Given the description of an element on the screen output the (x, y) to click on. 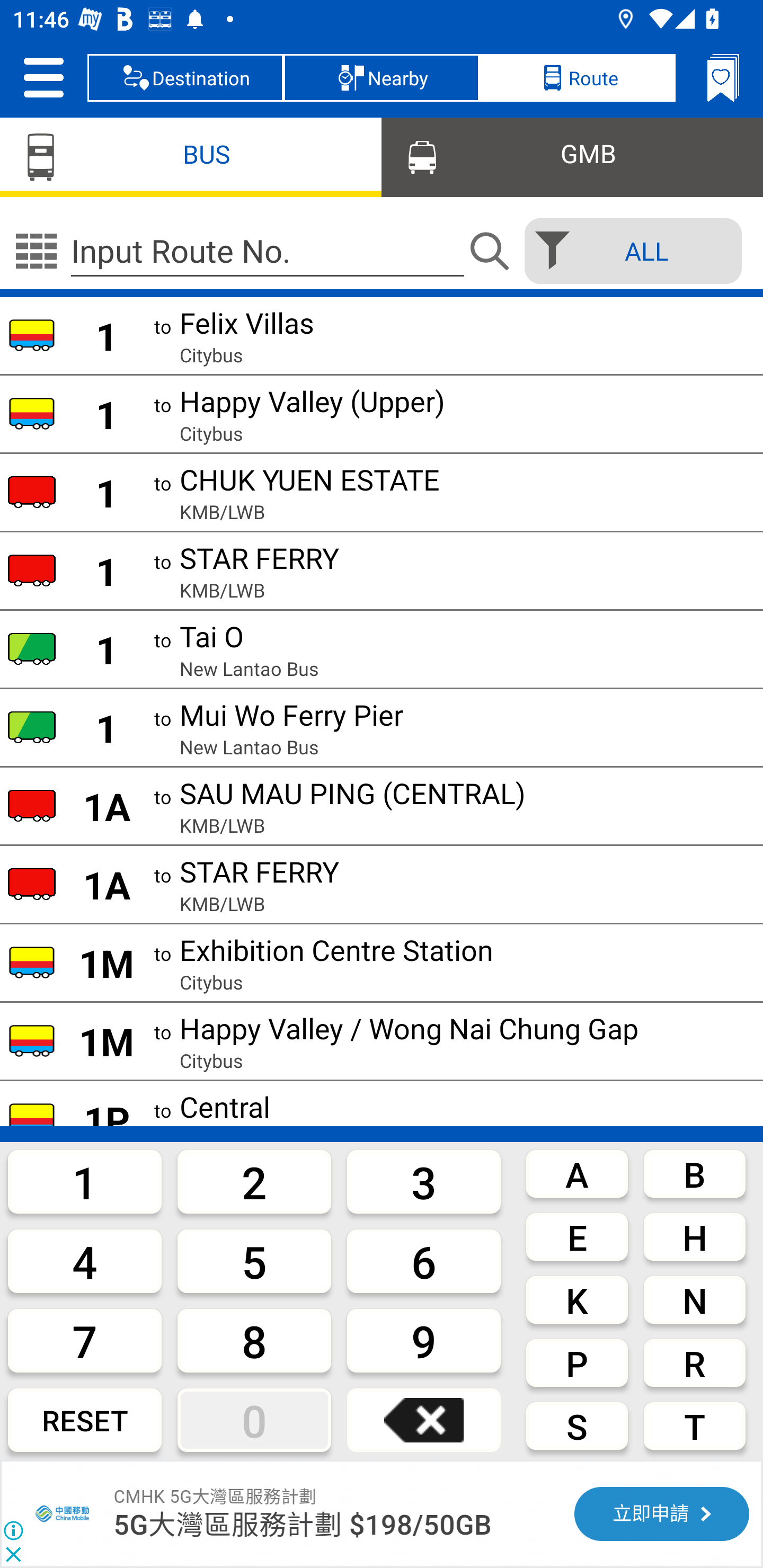
Destination (185, 77)
Nearby (381, 77)
Route, selected (577, 77)
Bookmarks (723, 77)
Setting (43, 77)
BUS, selected (190, 155)
GMB (572, 155)
selected ALL (627, 250)
no (36, 250)
1 (84, 1181)
2 (254, 1181)
3 (423, 1181)
A (576, 1173)
B (694, 1173)
E (576, 1236)
H (694, 1236)
4 (84, 1261)
5 (254, 1261)
6 (423, 1261)
K (576, 1299)
N (694, 1299)
7 (84, 1340)
8 (254, 1340)
9 (423, 1340)
P (576, 1362)
R (694, 1362)
RESET (84, 1419)
0 (254, 1419)
S (576, 1425)
T (694, 1425)
CMHK 5G大灣區服務計劃 (63, 1513)
CMHK 5G大灣區服務計劃 (215, 1495)
立即申請 (661, 1513)
5G大灣區服務計劃 $198/50GB (302, 1524)
